Given the description of an element on the screen output the (x, y) to click on. 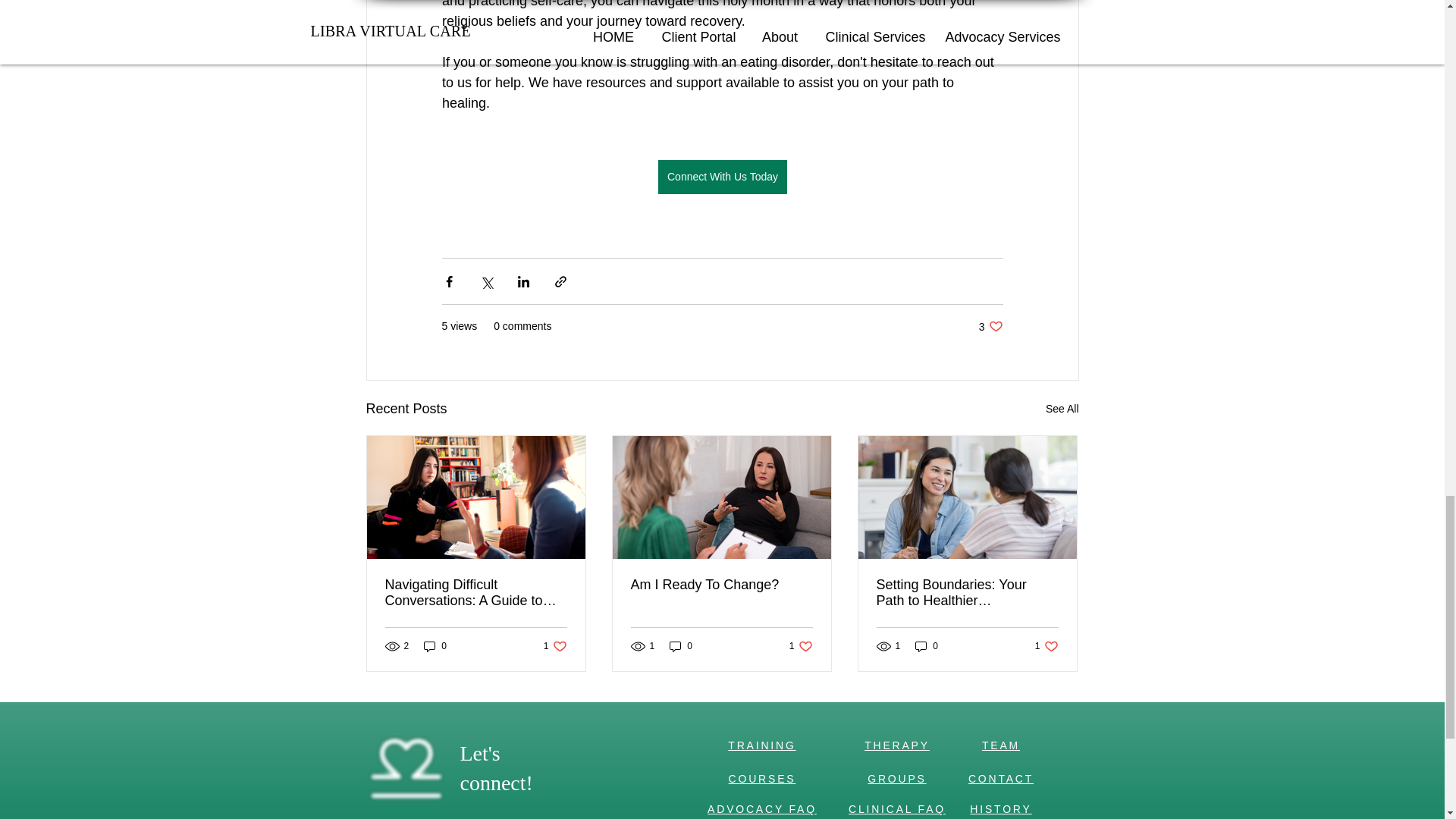
Am I Ready To Change? (800, 646)
Setting Boundaries: Your Path to Healthier Relationships (1046, 646)
0 (721, 584)
See All (990, 326)
0 (967, 593)
0 (555, 646)
